Given the description of an element on the screen output the (x, y) to click on. 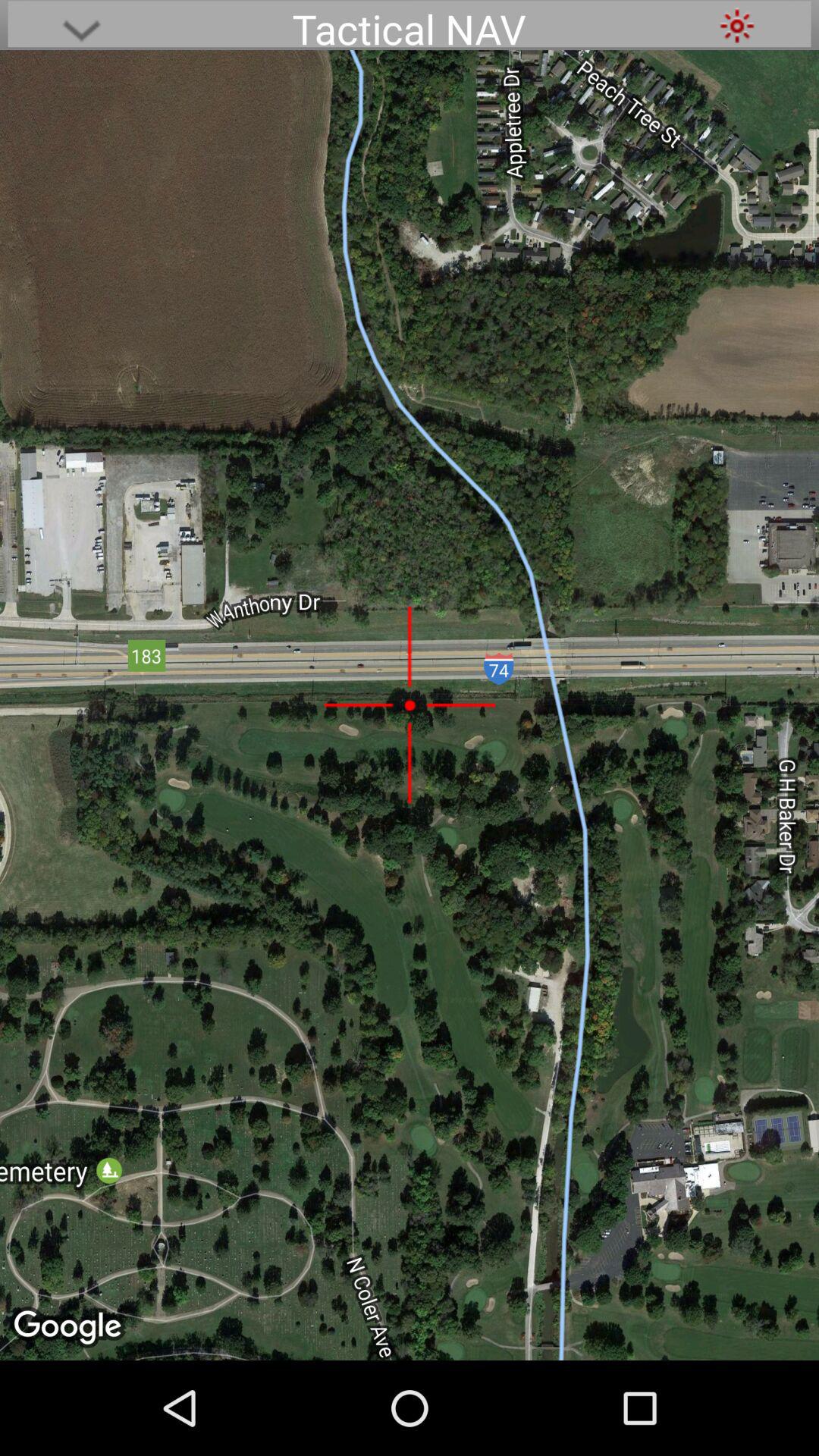
press icon at the top right corner (737, 25)
